Given the description of an element on the screen output the (x, y) to click on. 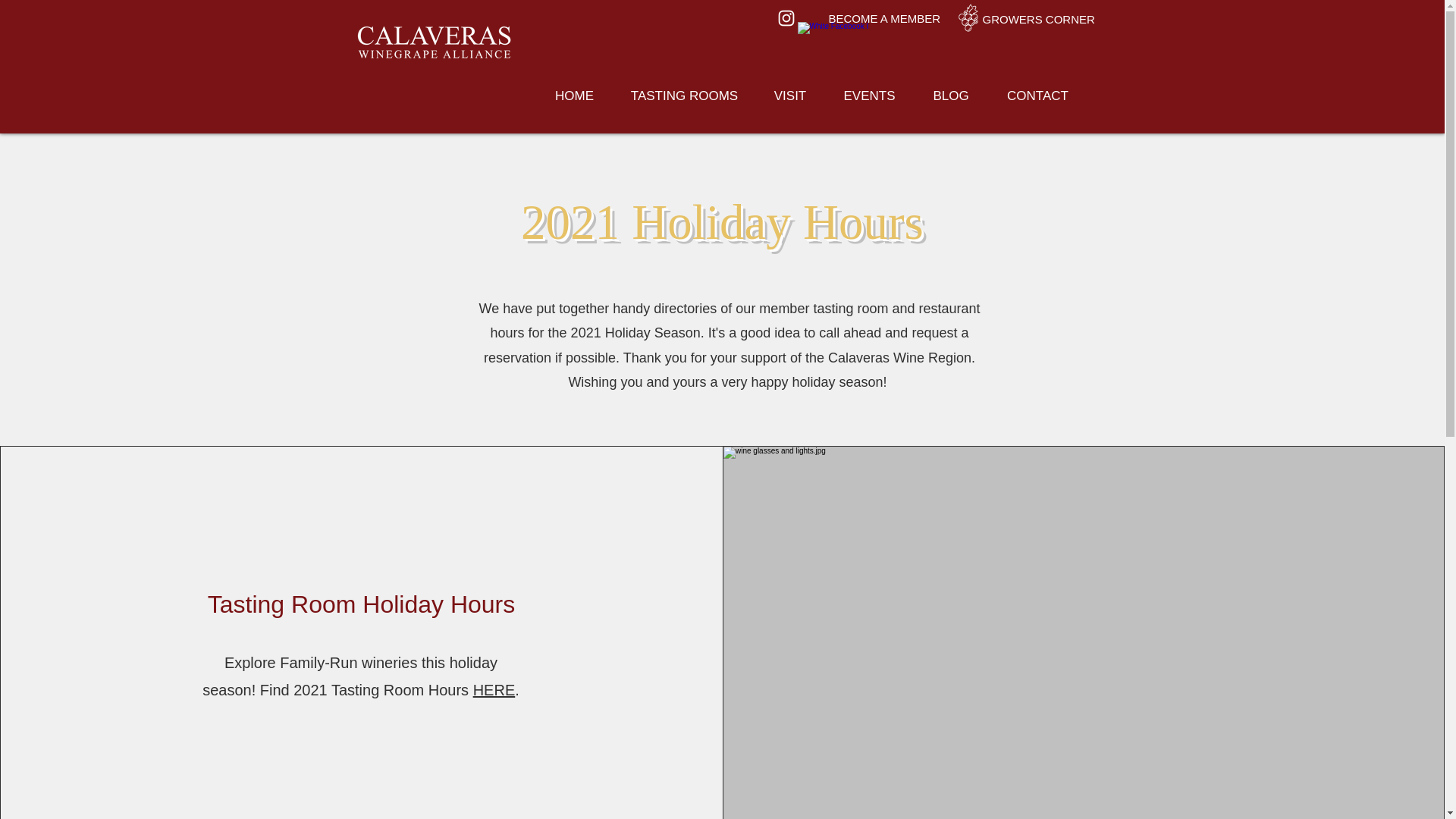
HERE (494, 689)
BLOG (949, 96)
EVENTS (869, 96)
HOME (573, 96)
BECOME A MEMBER (884, 18)
GROWERS CORNER (1038, 19)
CONTACT (1036, 96)
